Given the description of an element on the screen output the (x, y) to click on. 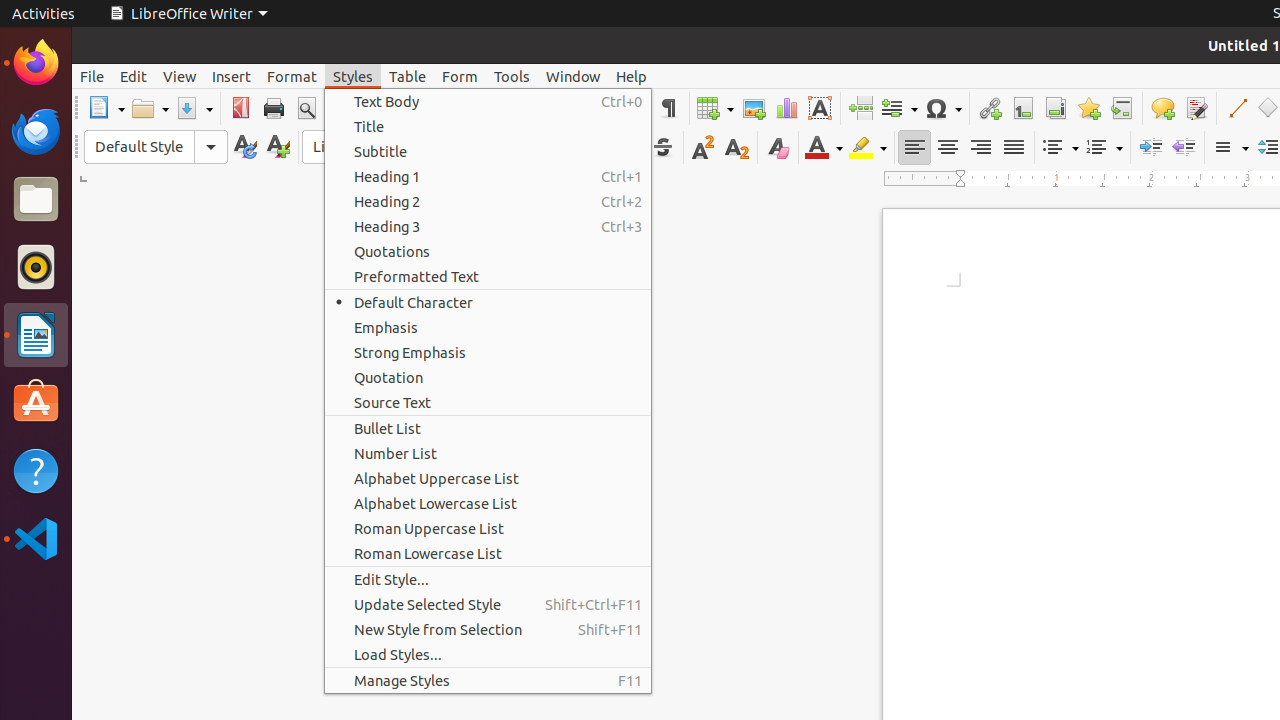
Right Element type: toggle-button (980, 147)
Edit Element type: menu (133, 76)
Format Element type: menu (292, 76)
Window Element type: menu (573, 76)
Alphabet Uppercase List Element type: radio-menu-item (488, 478)
